Given the description of an element on the screen output the (x, y) to click on. 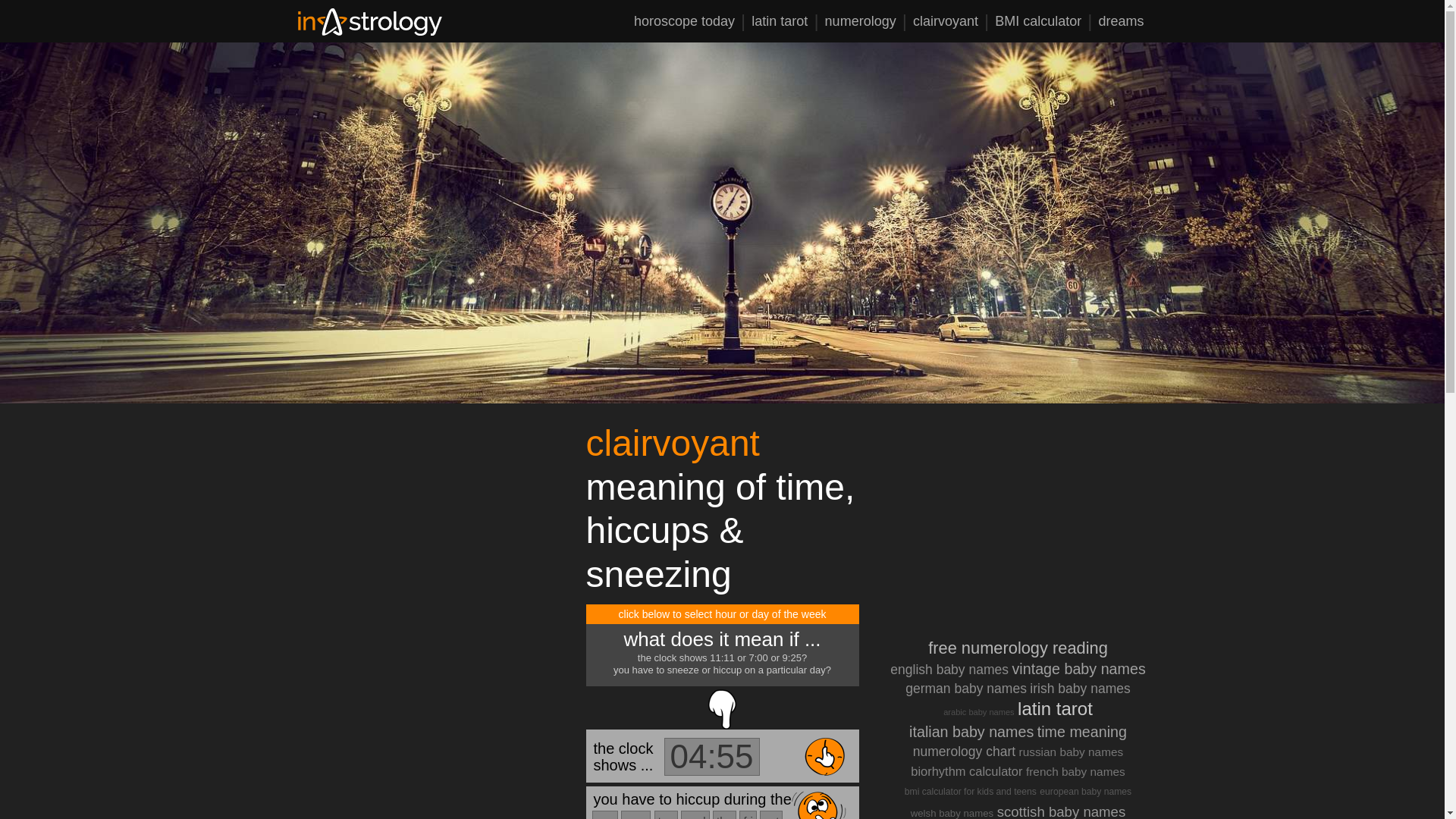
numerology (866, 25)
horoscope today (689, 25)
dreams (1120, 25)
04:55 (711, 756)
numerology (866, 25)
free numerology reading (1018, 647)
BMI calculator (1042, 25)
tue (665, 814)
clairvoyant (950, 25)
thu (724, 814)
mon (635, 814)
wed (695, 814)
horoscope today (689, 25)
sun (604, 814)
sat (771, 814)
